Given the description of an element on the screen output the (x, y) to click on. 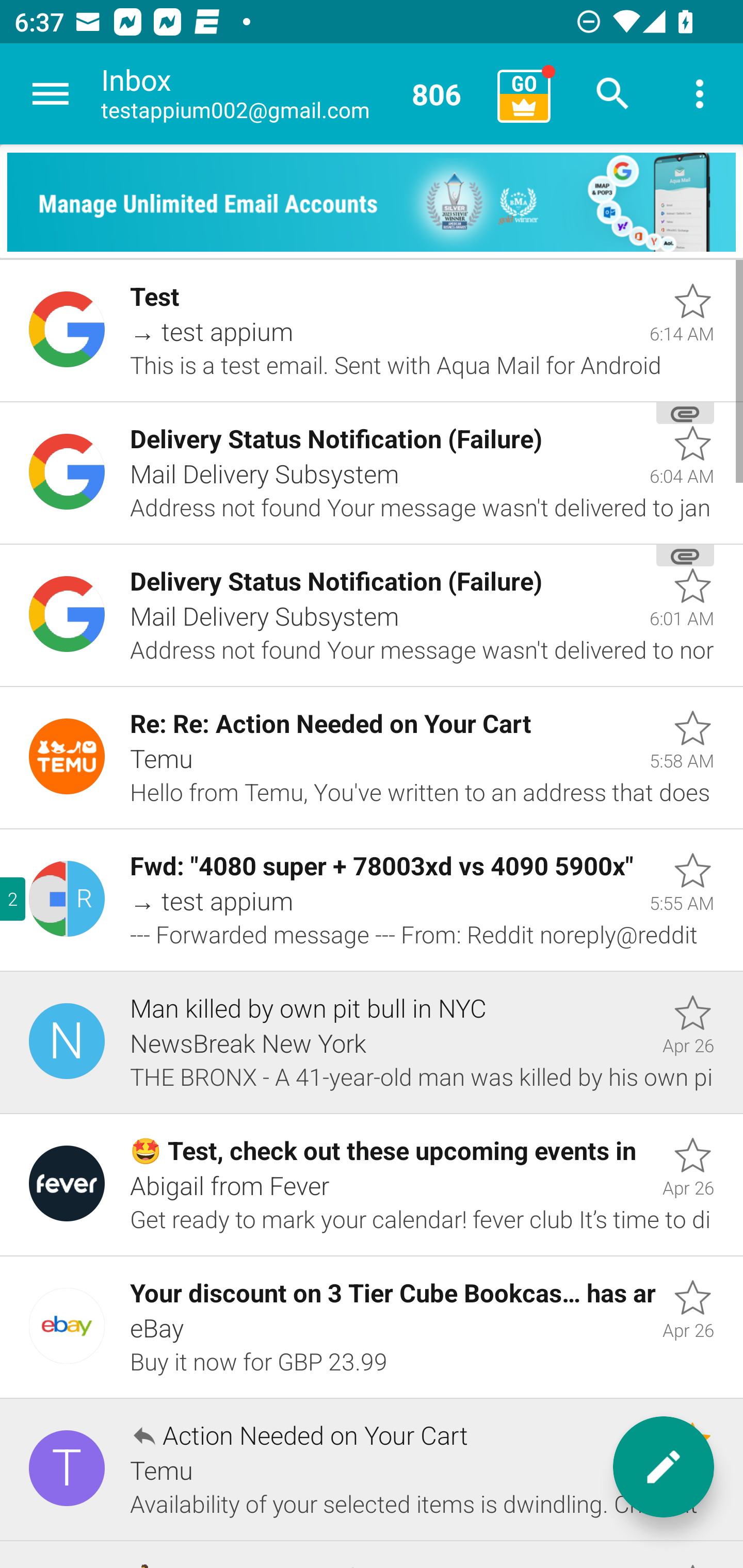
Navigate up (50, 93)
Inbox testappium002@gmail.com 806 (291, 93)
Search (612, 93)
More options (699, 93)
New message (663, 1466)
